Given the description of an element on the screen output the (x, y) to click on. 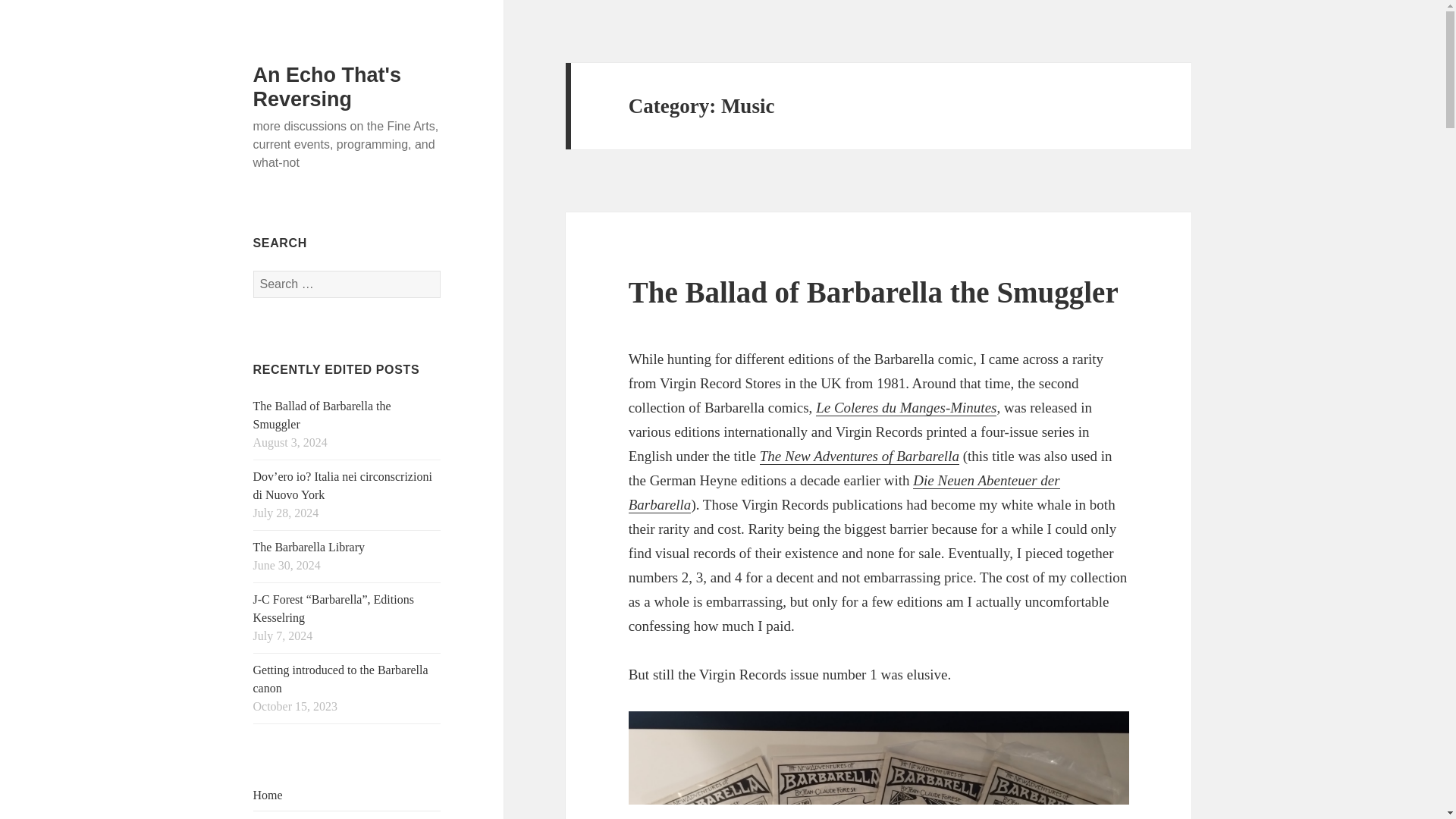
Home (267, 794)
The Barbarella Library (309, 546)
The Ballad of Barbarella the Smuggler (322, 414)
An Echo That's Reversing (327, 86)
Getting introduced to the Barbarella canon (340, 678)
